Given the description of an element on the screen output the (x, y) to click on. 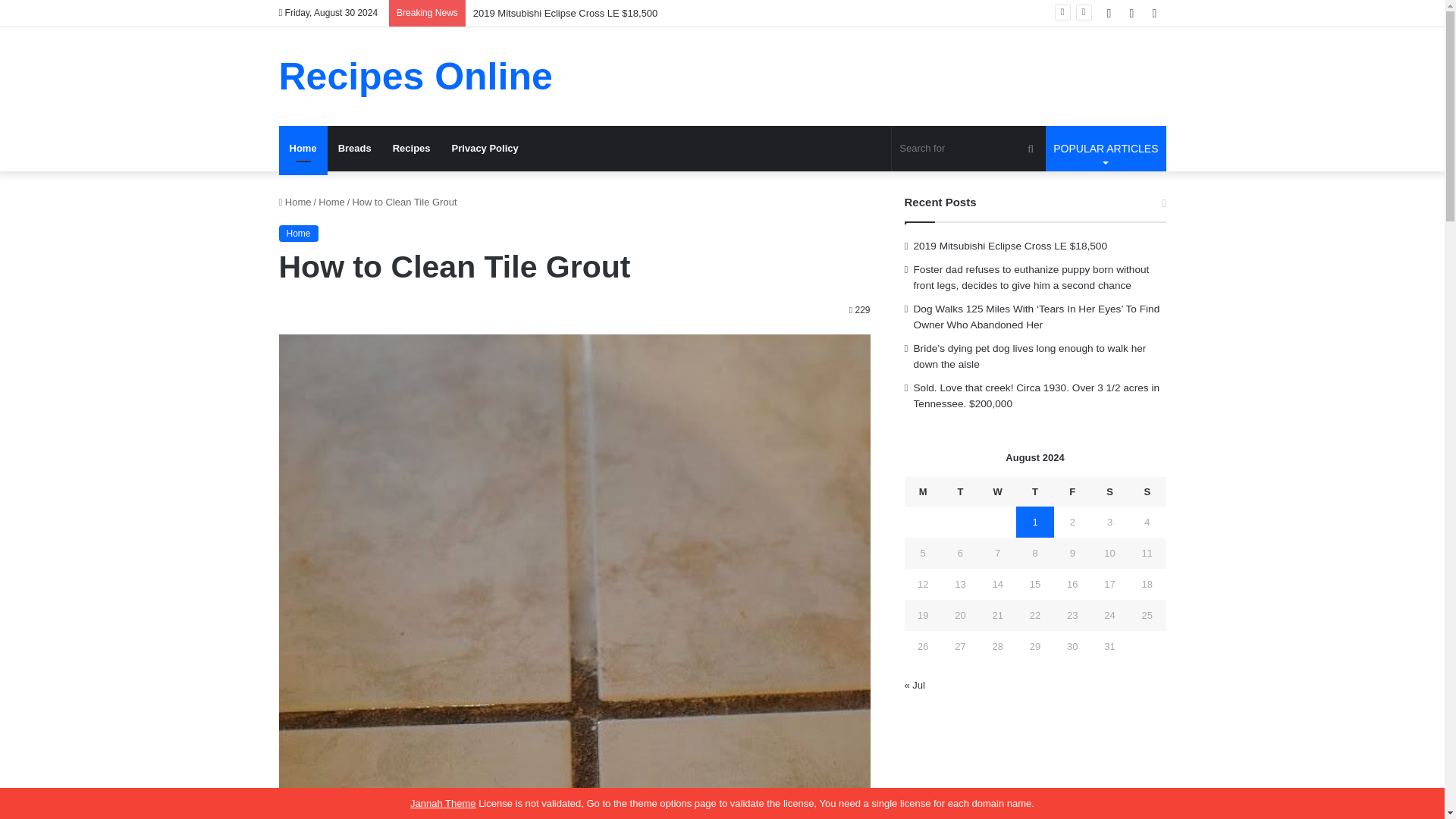
Home (303, 148)
Home (295, 202)
Recipes (411, 148)
Thursday (1034, 491)
Tuesday (1105, 148)
Breads (960, 491)
Monday (354, 148)
Recipes Online (923, 491)
Privacy Policy (416, 76)
